Given the description of an element on the screen output the (x, y) to click on. 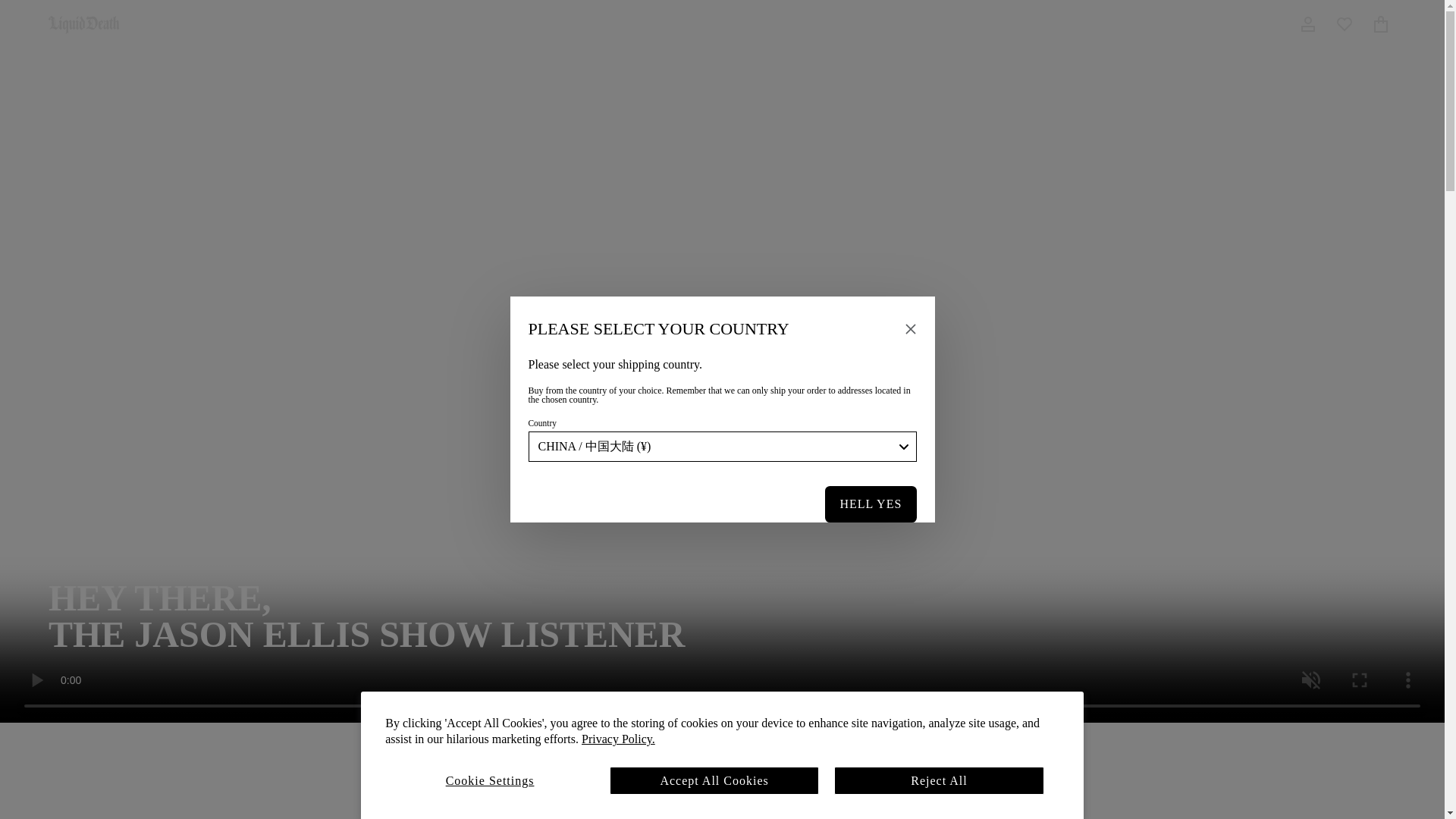
Cookie Settings (489, 780)
Open Cart (1380, 24)
Reject All (938, 780)
Go to Wishlist (1344, 24)
Logo (83, 23)
Accept All Cookies (714, 780)
Go to Account Page (1307, 24)
HELL YES (870, 504)
Privacy Policy. (617, 738)
